Given the description of an element on the screen output the (x, y) to click on. 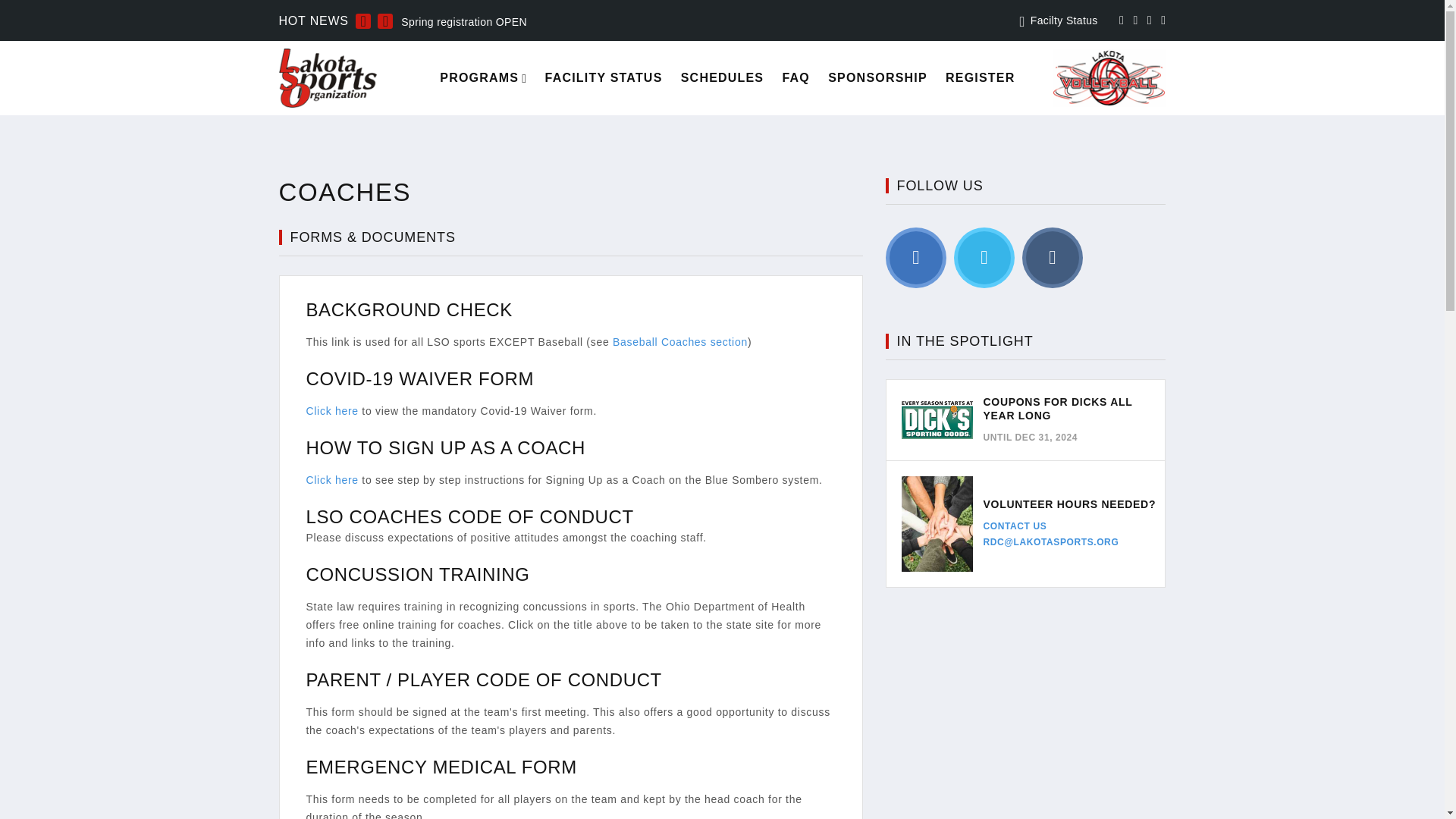
FAQ (795, 77)
HOW TO SIGN UP AS A COACH (445, 447)
REGISTER (979, 77)
Baseball Coaches section (680, 341)
PROGRAMS (478, 77)
COVID-19 WAIVER FORM (419, 378)
SCHEDULES (721, 77)
Click here (333, 480)
SPONSORSHIP (877, 77)
Facilty Status (1063, 20)
